Given the description of an element on the screen output the (x, y) to click on. 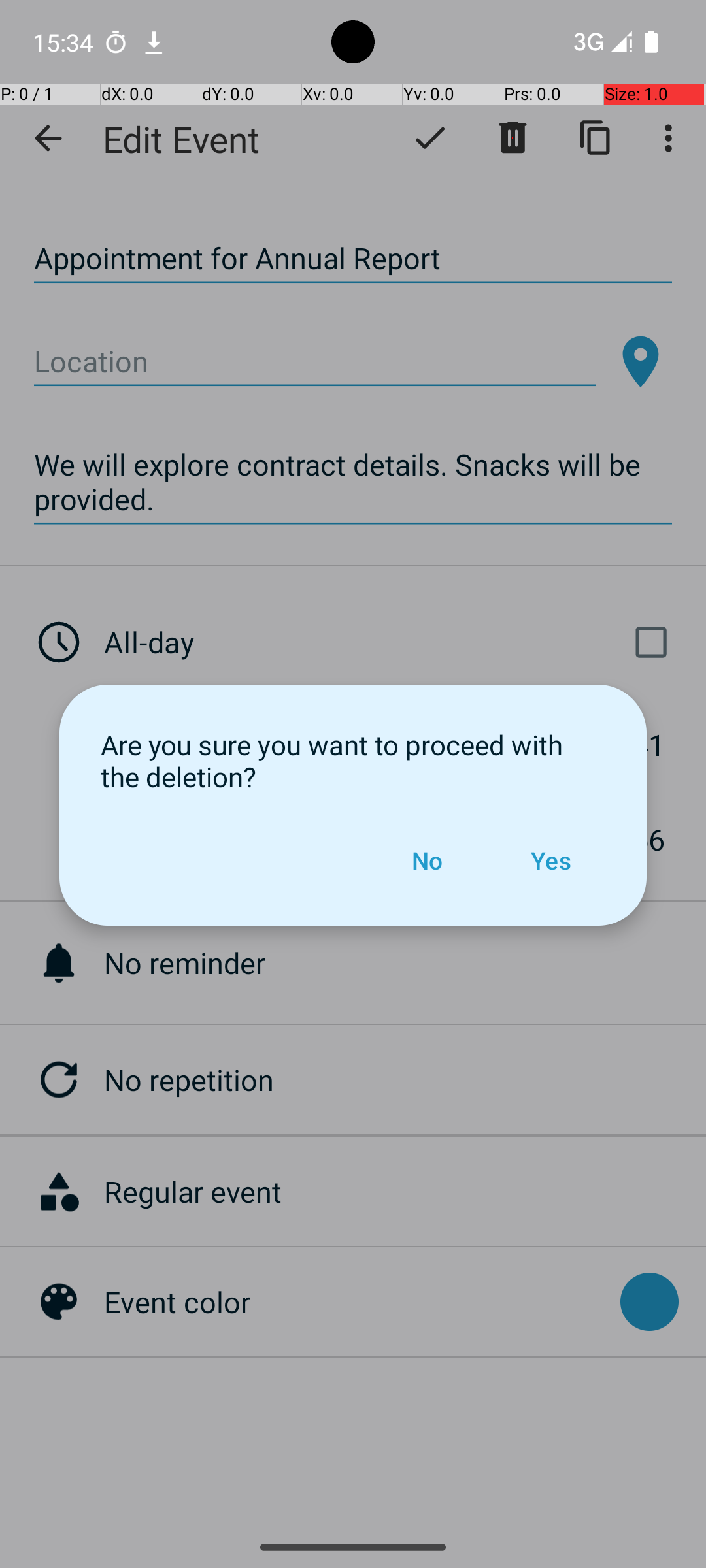
Are you sure you want to proceed with the deletion? Element type: android.widget.TextView (352, 760)
